Given the description of an element on the screen output the (x, y) to click on. 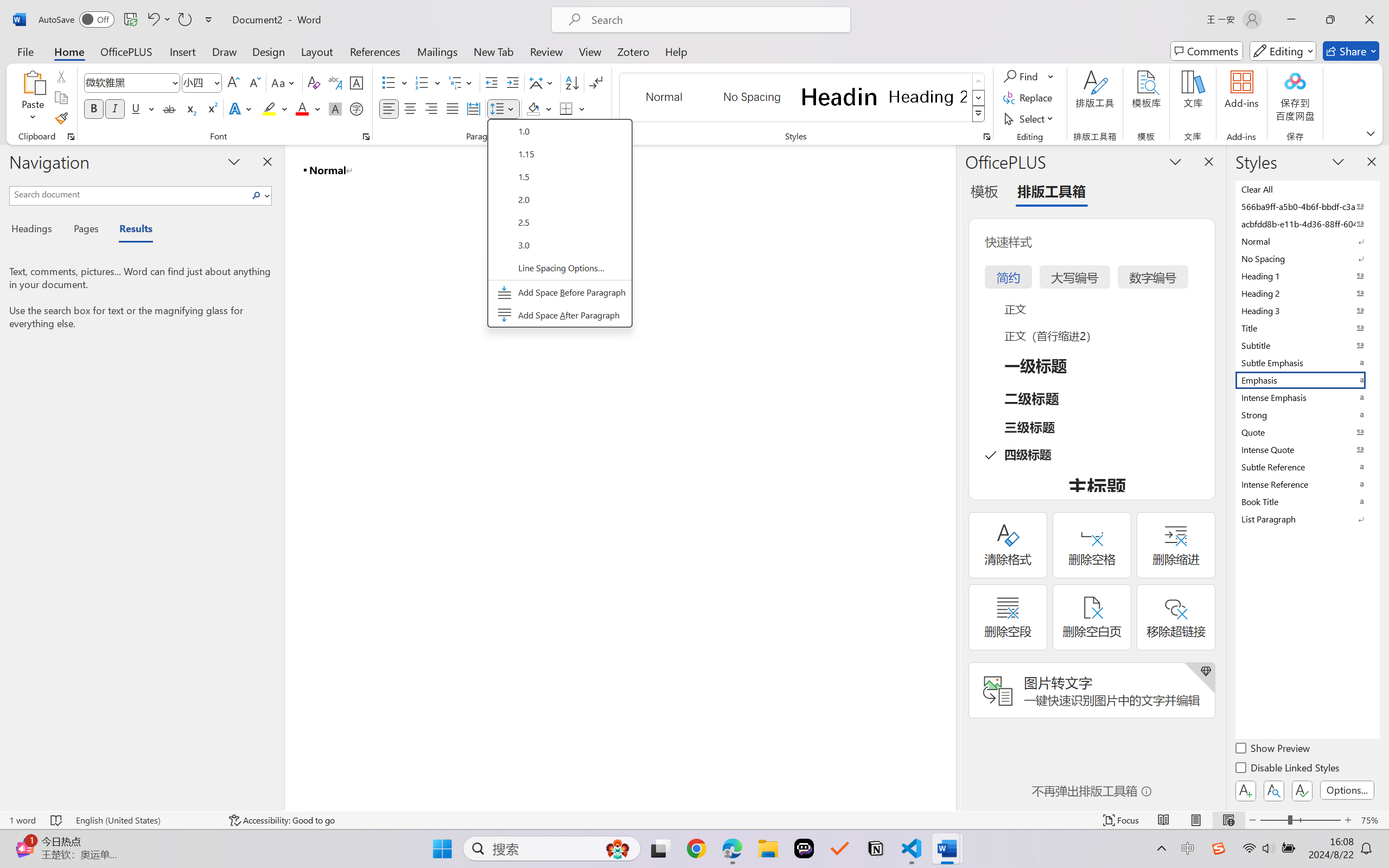
Character Border (356, 82)
Share (1350, 51)
Pages (85, 229)
Print Layout (1196, 819)
Heading 3 (1306, 310)
Class: MsoCommandBar (694, 819)
Restore Down (1330, 19)
Align Left (388, 108)
Emphasis (1306, 379)
Quote (1306, 431)
Strong (1306, 414)
Find (1029, 75)
Heading 1 (839, 96)
